Given the description of an element on the screen output the (x, y) to click on. 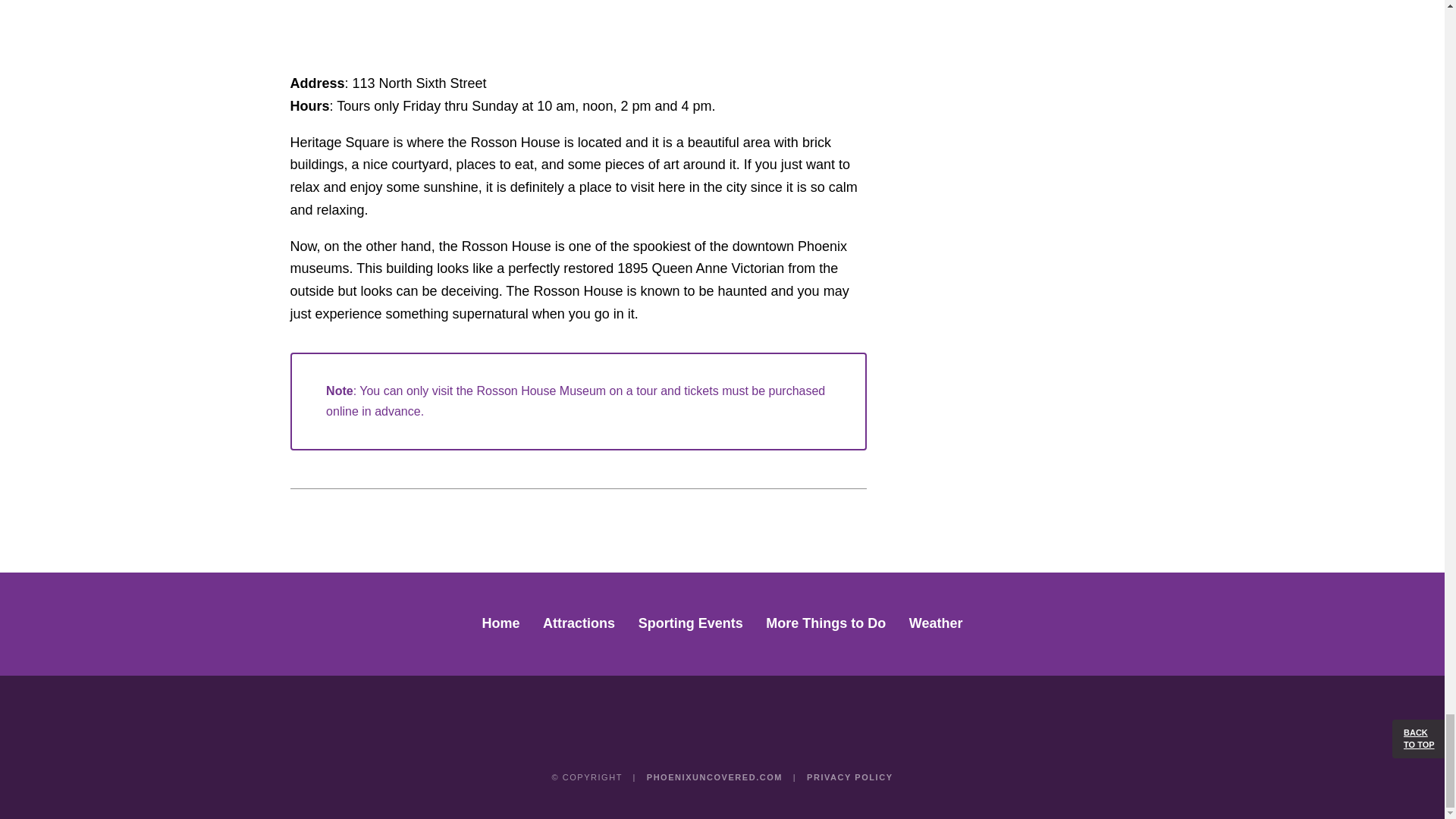
Rosson House Heritage Square in Phoenix (578, 27)
Weather (935, 622)
Home (500, 622)
PHOENIXUNCOVERED.COM (714, 777)
Sporting Events (690, 622)
More Things to Do (825, 622)
PRIVACY POLICY (849, 777)
Attractions (578, 622)
